Given the description of an element on the screen output the (x, y) to click on. 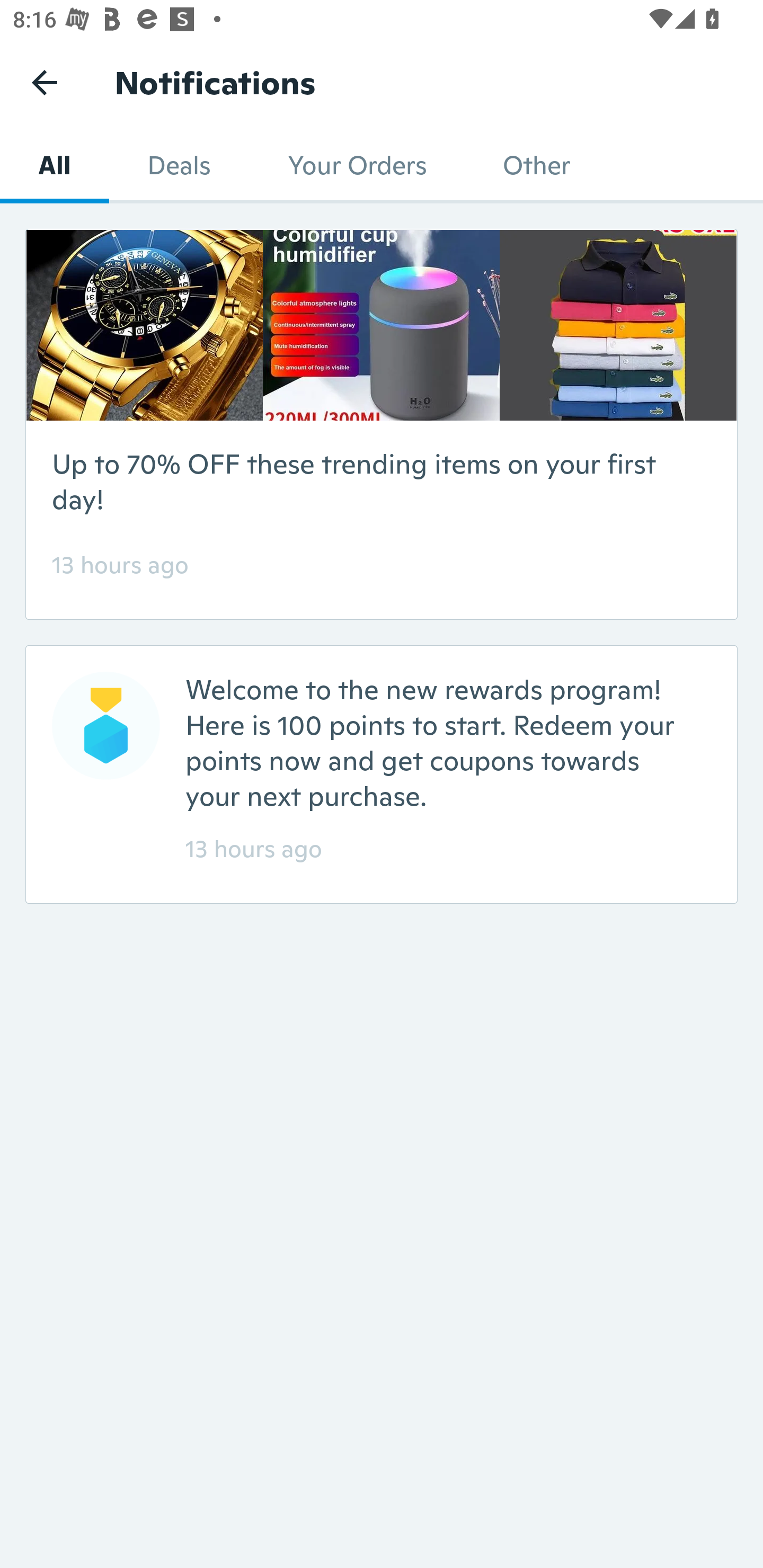
Navigate up (44, 82)
All (54, 165)
Deals (178, 165)
Your Orders (356, 165)
Other (536, 165)
